Given the description of an element on the screen output the (x, y) to click on. 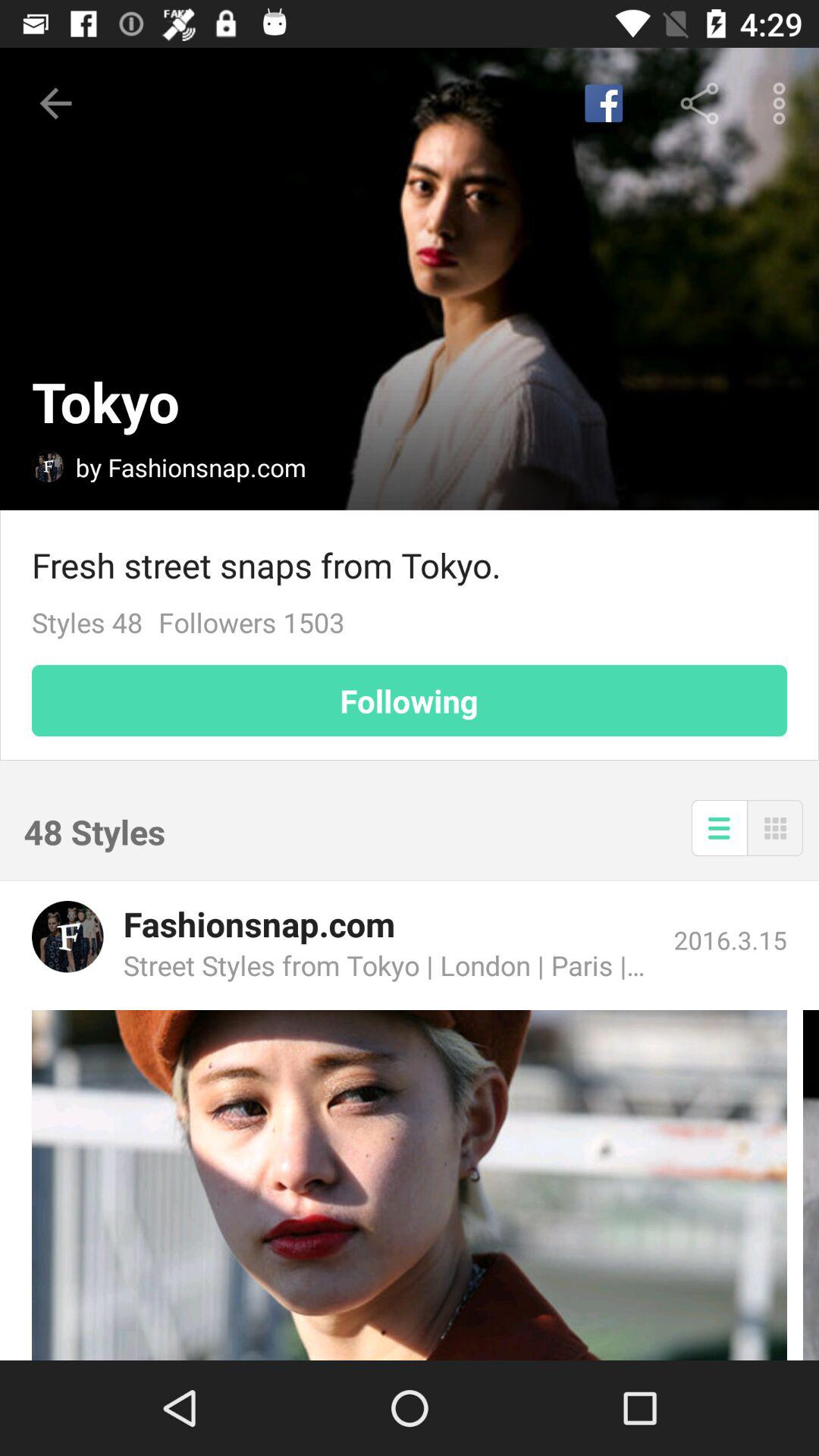
change layout of images (775, 827)
